Given the description of an element on the screen output the (x, y) to click on. 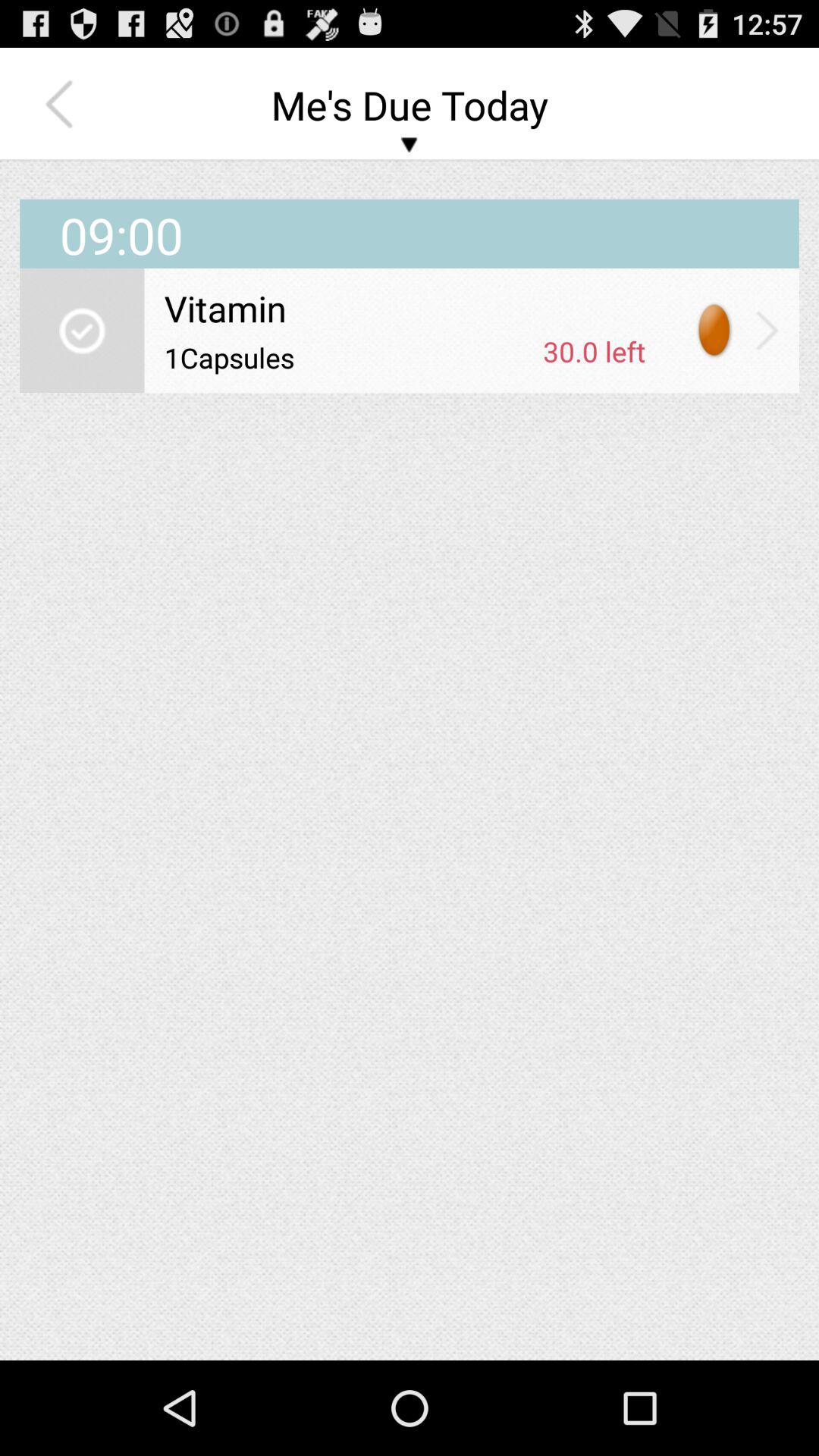
press item below the 09:00 app (767, 329)
